Given the description of an element on the screen output the (x, y) to click on. 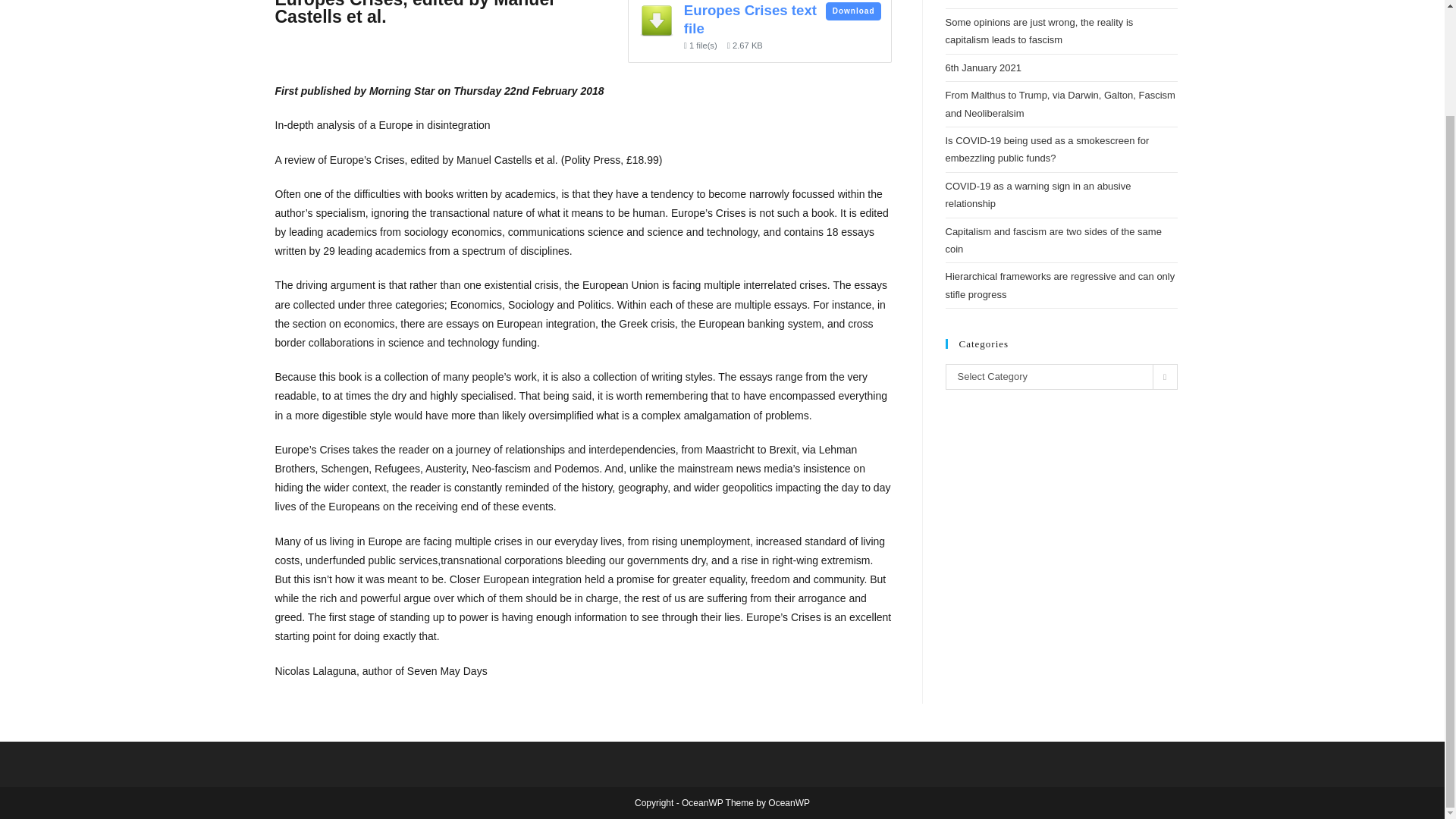
Capitalism and fascism are two sides of the same coin (1052, 240)
Download (852, 11)
6th January 2021 (982, 67)
Europes Crises text file (750, 19)
COVID-19 as a warning sign in an abusive relationship (1037, 194)
